Given the description of an element on the screen output the (x, y) to click on. 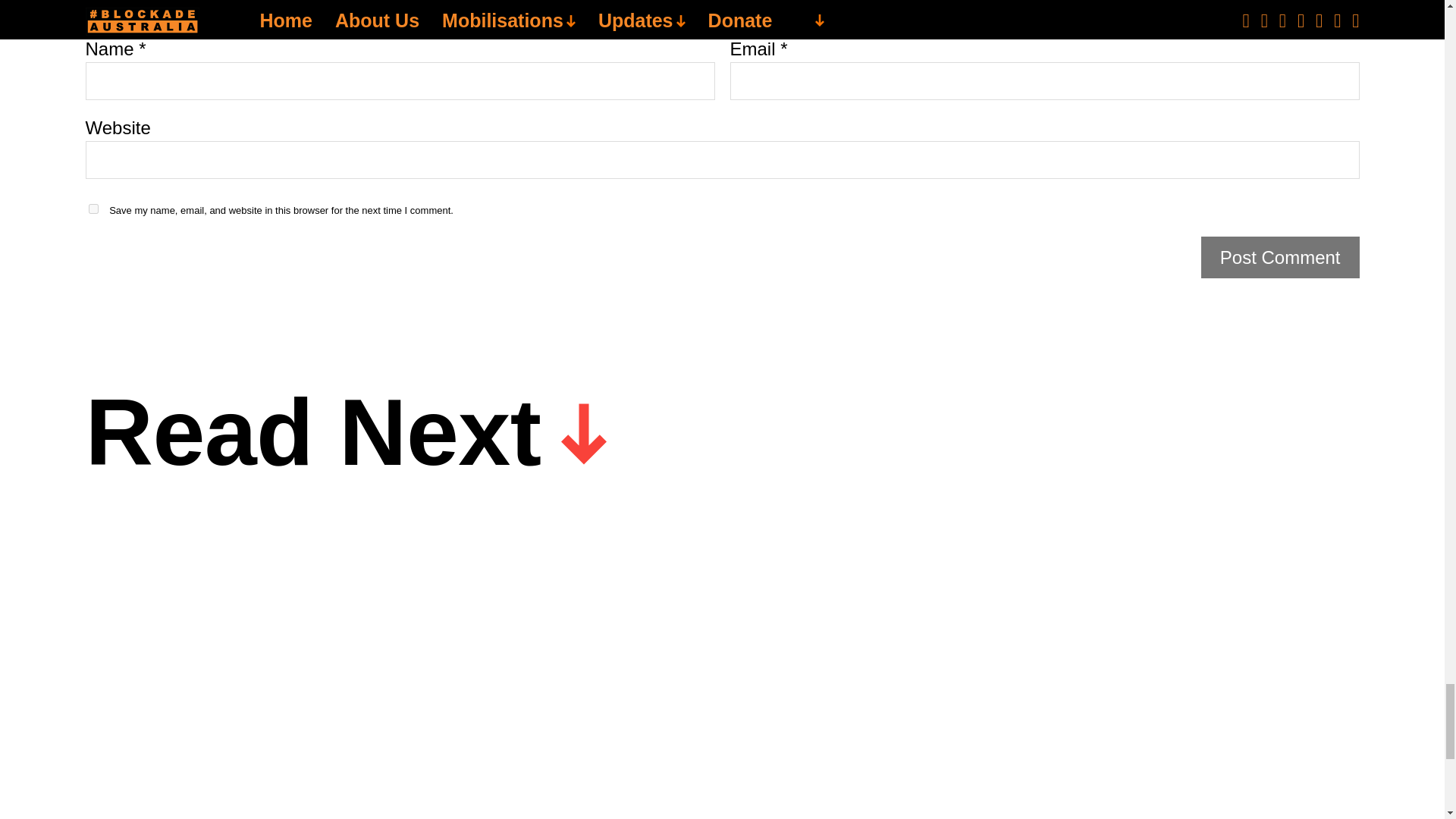
yes (92, 207)
Post Comment (1280, 257)
